Given the description of an element on the screen output the (x, y) to click on. 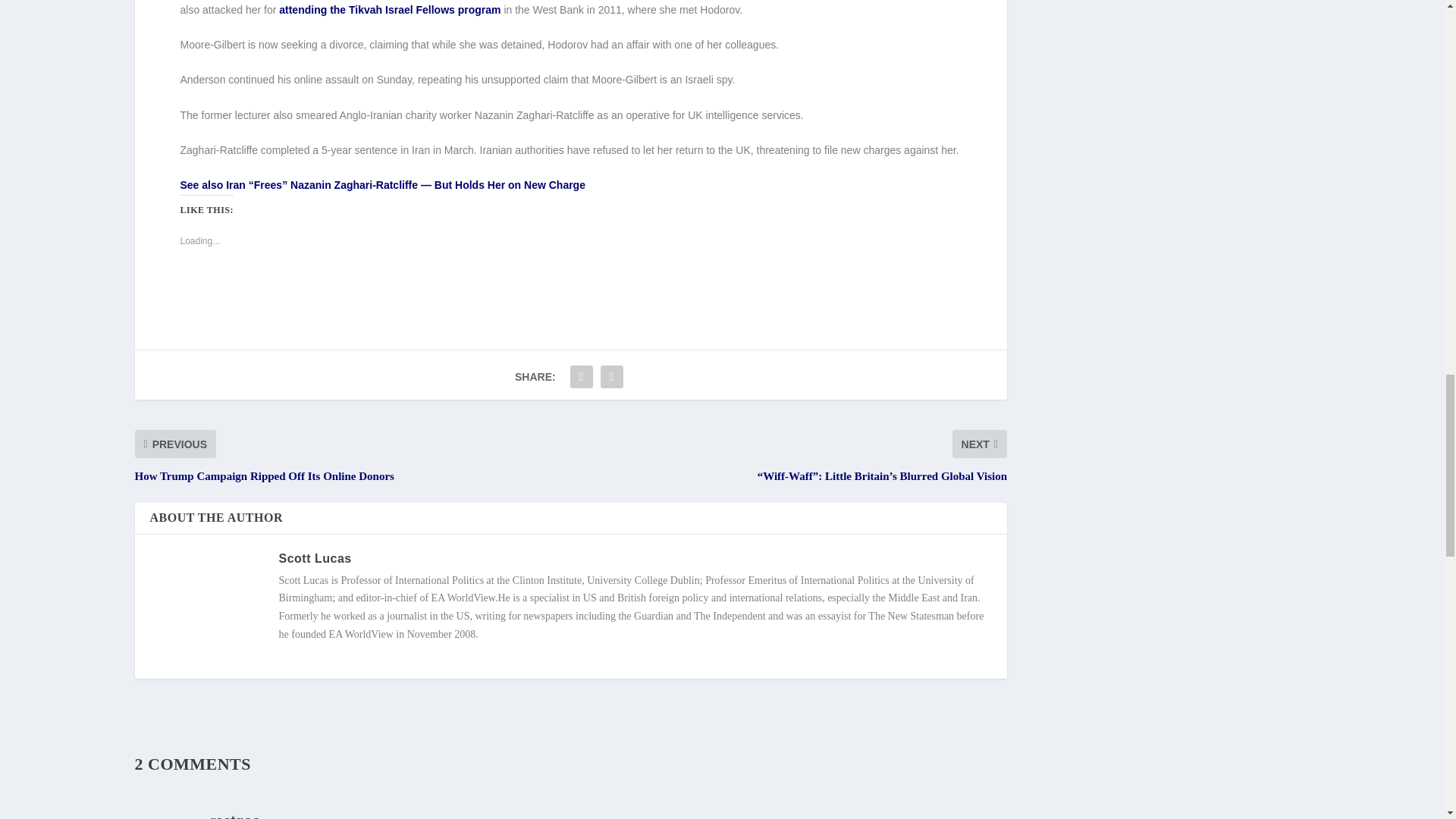
Scott Lucas (315, 558)
attending the Tikvah Israel Fellows program (389, 9)
View all posts by Scott Lucas (315, 558)
